Given the description of an element on the screen output the (x, y) to click on. 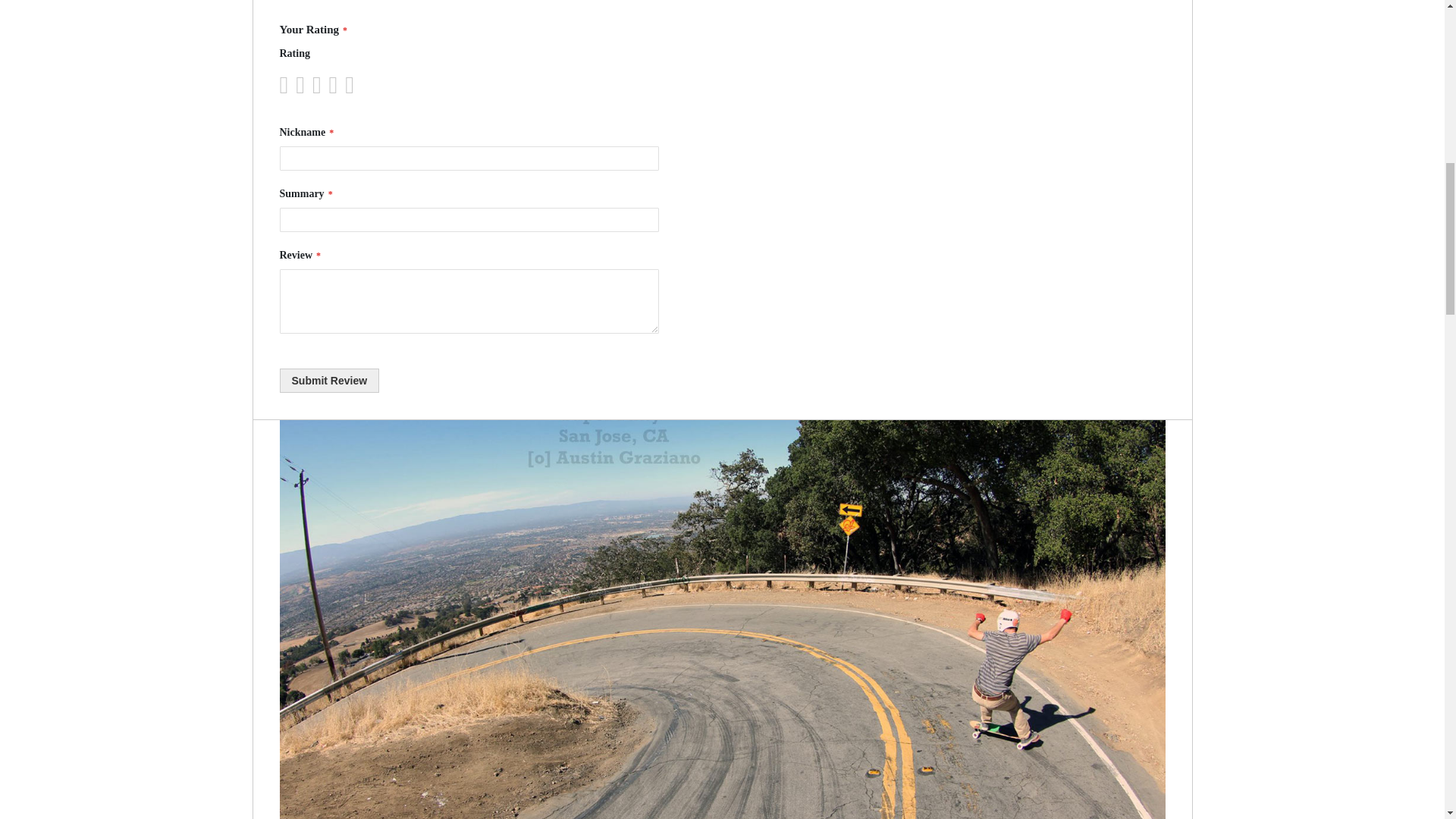
4 stars (312, 84)
3 stars (304, 84)
2 stars (295, 84)
5 stars (320, 84)
